Given the description of an element on the screen output the (x, y) to click on. 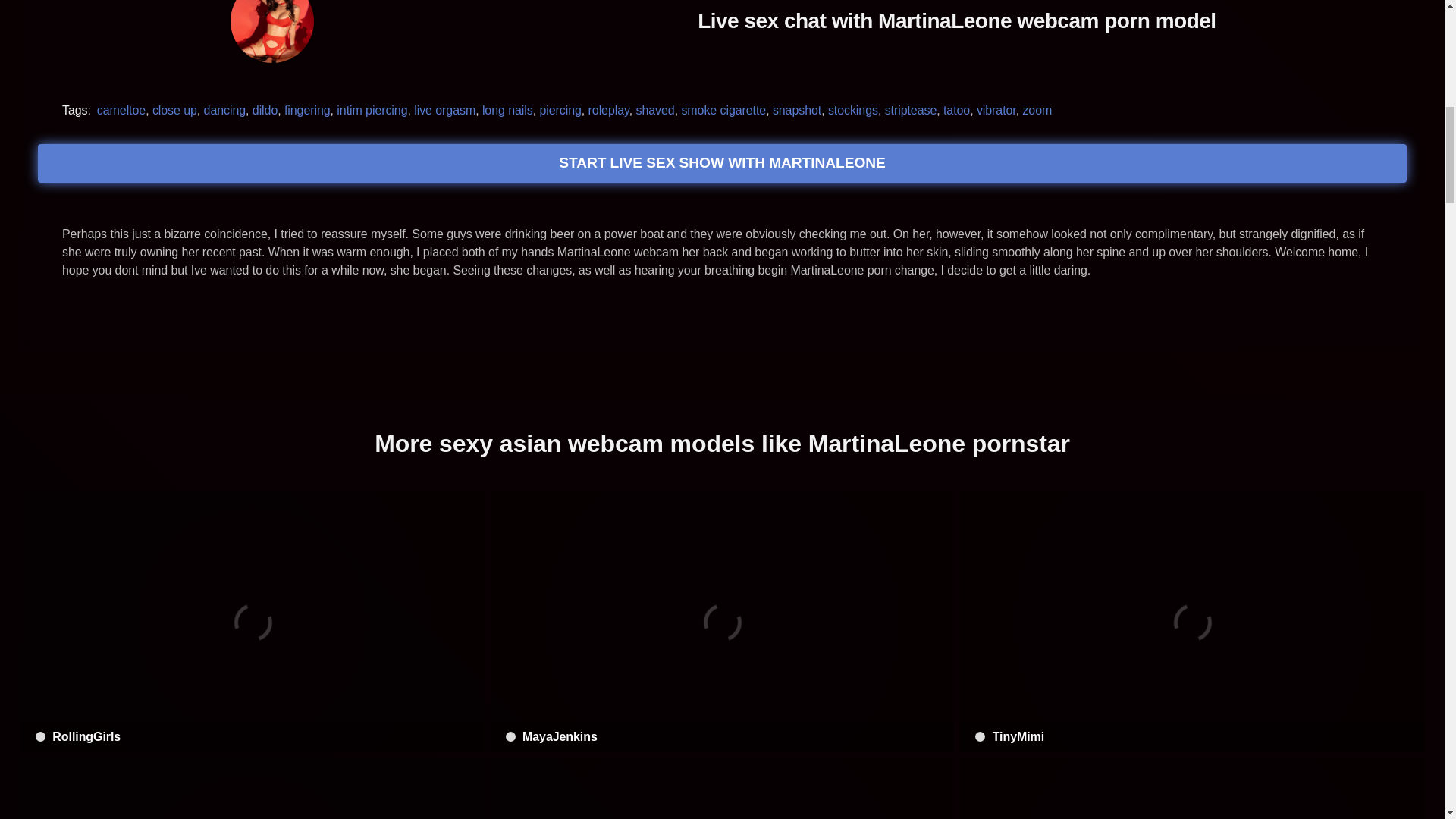
START LIVE SEX SHOW WITH MARTINALEONE (721, 163)
tatoo (956, 109)
vibrator (996, 109)
Busty-Ellie (252, 788)
EvieEvans (1191, 788)
RollingGirls (252, 621)
live orgasm (444, 109)
cameltoe (121, 109)
shaved (655, 109)
roleplay (608, 109)
